Given the description of an element on the screen output the (x, y) to click on. 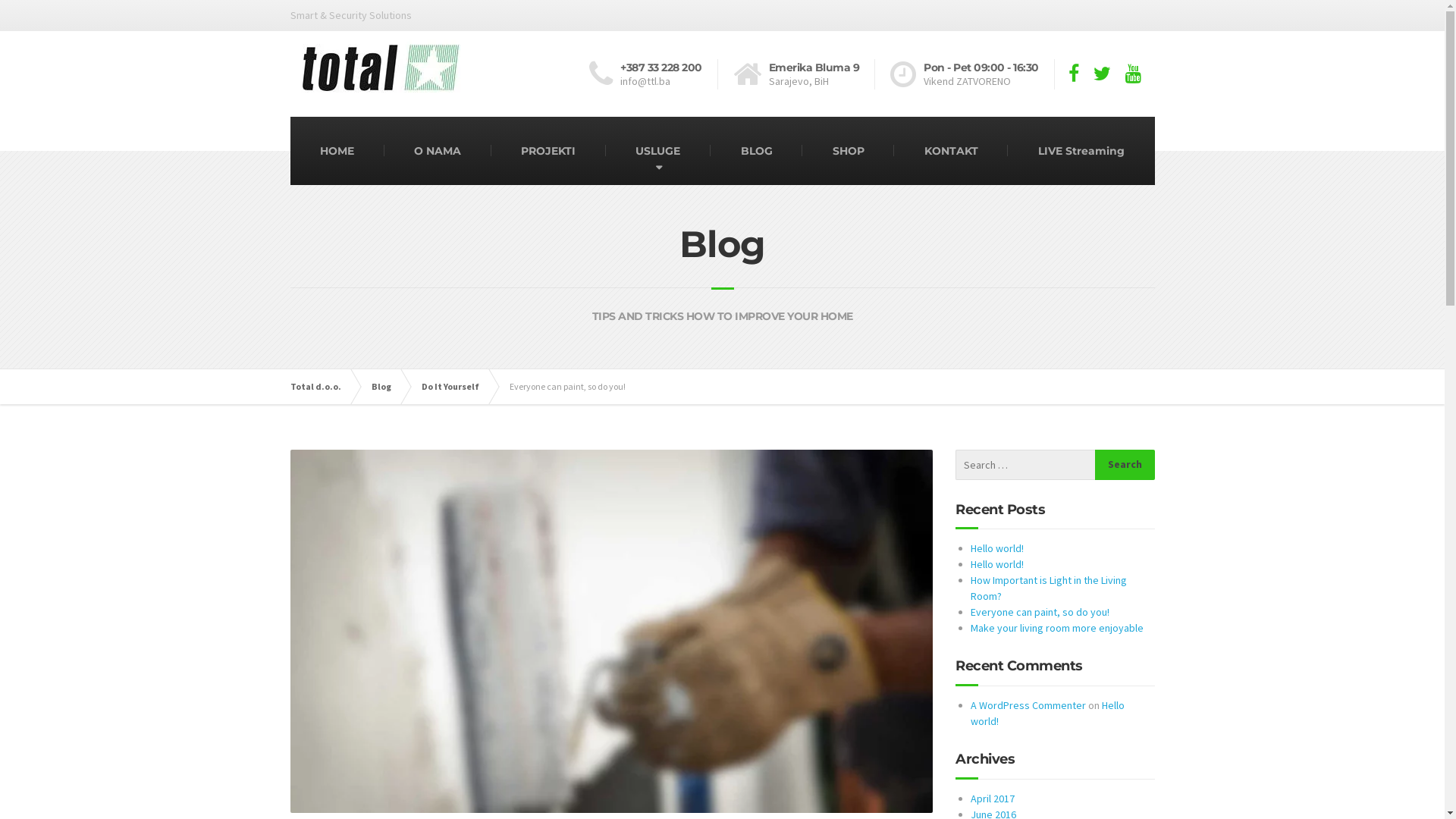
Blog Element type: text (388, 386)
How Important is Light in the Living Room? Element type: text (1048, 587)
A WordPress Commenter Element type: text (1027, 705)
Hello world! Element type: text (996, 548)
O NAMA Element type: text (437, 150)
KONTAKT Element type: text (950, 150)
+387 33 228 200
info@ttl.ba Element type: text (653, 74)
SHOP Element type: text (848, 150)
Everyone can paint, so do you! Element type: text (1039, 611)
Hello world! Element type: text (996, 564)
Make your living room more enjoyable Element type: text (1056, 627)
USLUGE Element type: text (657, 150)
Search Element type: text (1124, 464)
Total d.o.o. Element type: text (322, 386)
PROJEKTI Element type: text (548, 150)
Hello world! Element type: text (1047, 713)
HOME Element type: text (336, 150)
LIVE Streaming Element type: text (1080, 150)
Do It Yourself Element type: text (457, 386)
BLOG Element type: text (756, 150)
April 2017 Element type: text (992, 798)
